Given the description of an element on the screen output the (x, y) to click on. 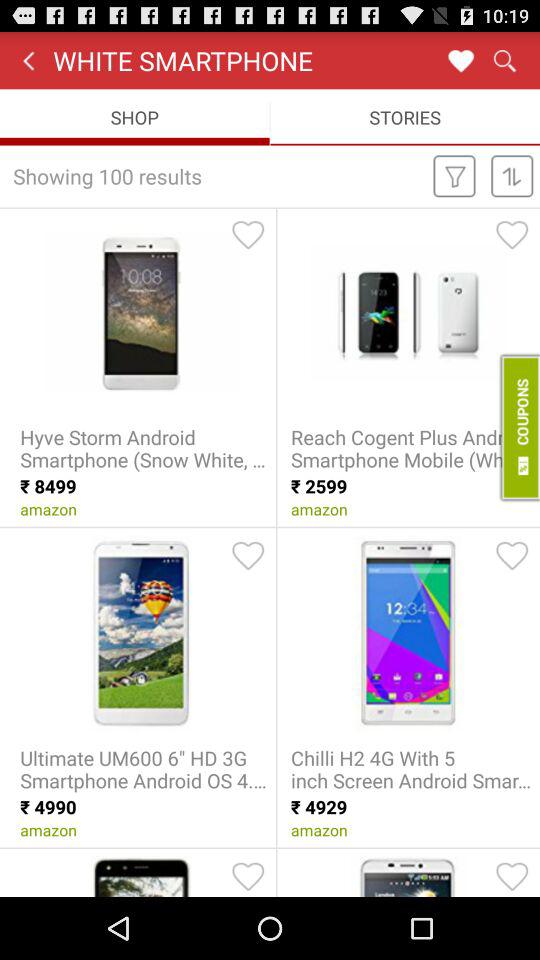
tap item to the left of the white smartphone (28, 60)
